Given the description of an element on the screen output the (x, y) to click on. 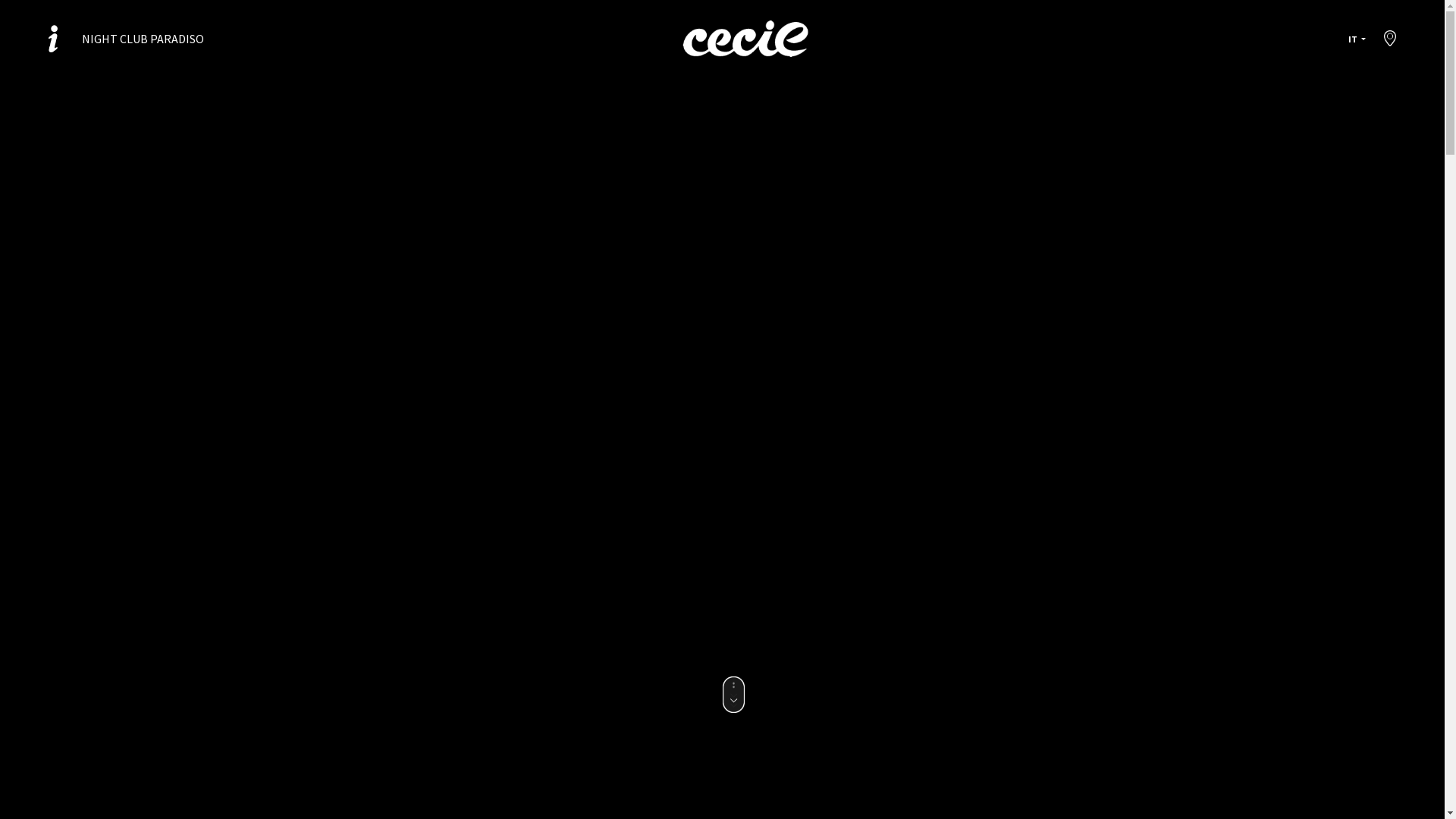
IT Element type: text (1356, 38)
